Given the description of an element on the screen output the (x, y) to click on. 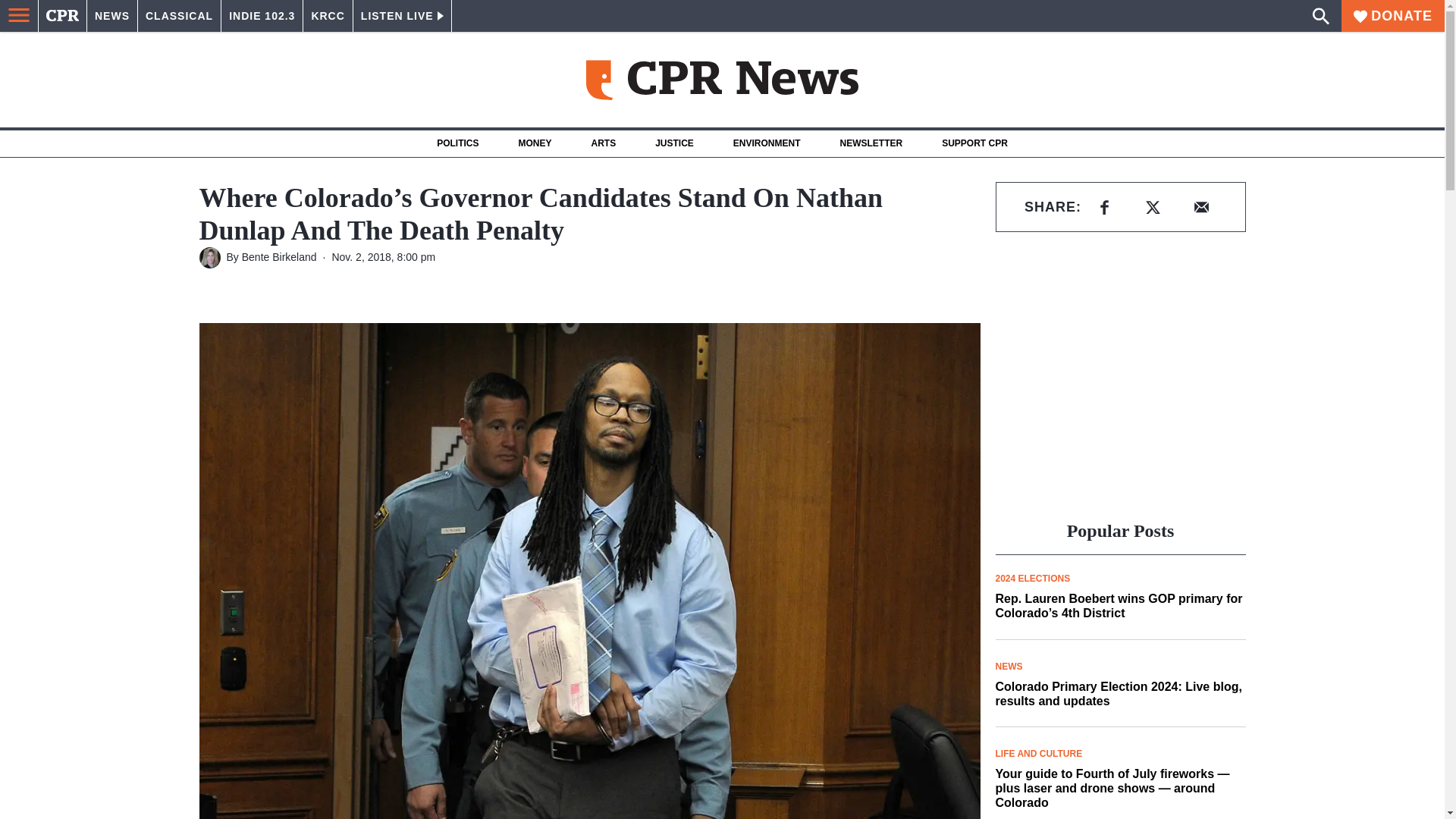
CLASSICAL (179, 15)
NEWS (111, 15)
LISTEN LIVE (402, 15)
KRCC (327, 15)
INDIE 102.3 (261, 15)
